Given the description of an element on the screen output the (x, y) to click on. 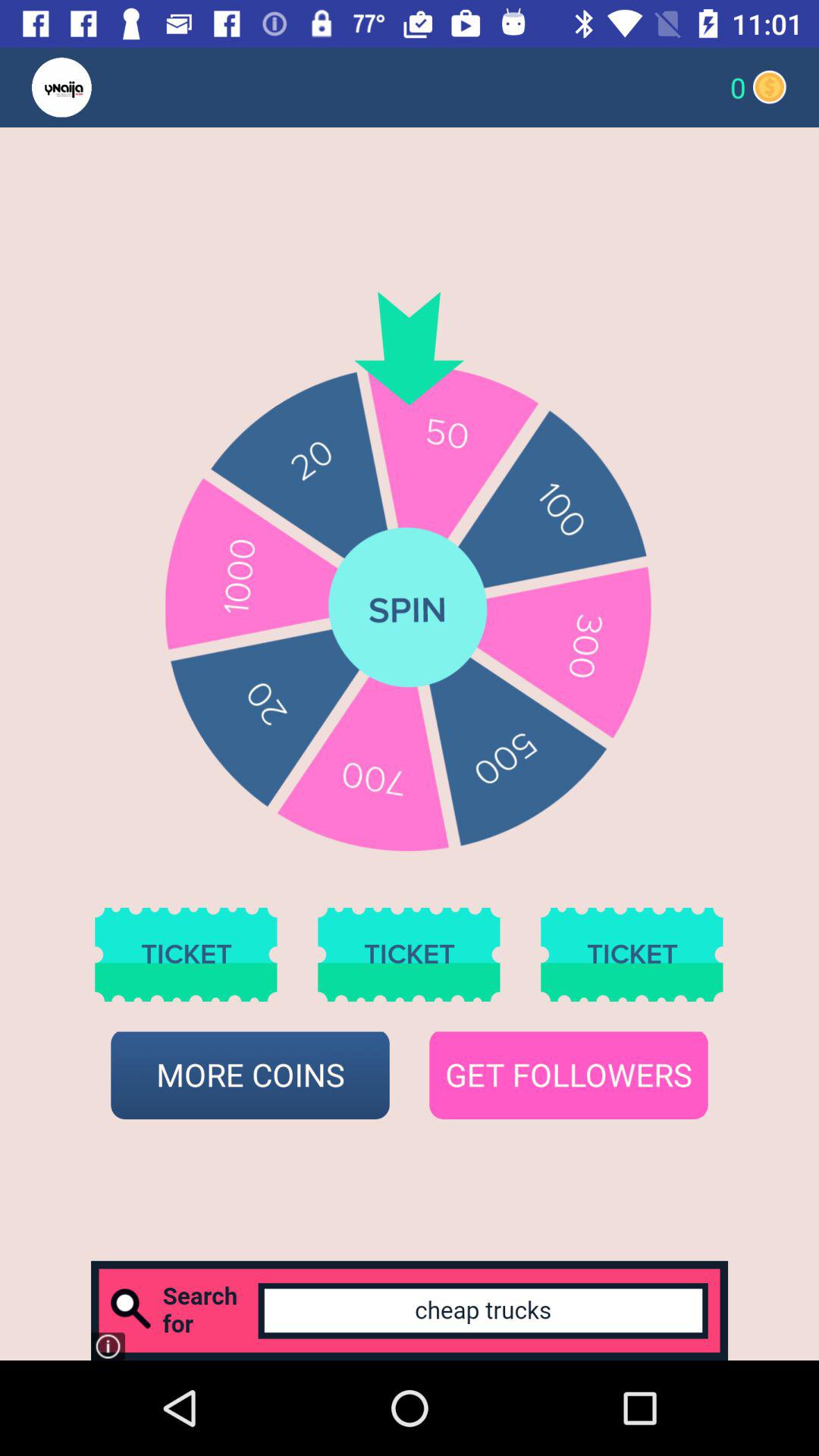
press the icon below ticket icon (568, 1075)
